Given the description of an element on the screen output the (x, y) to click on. 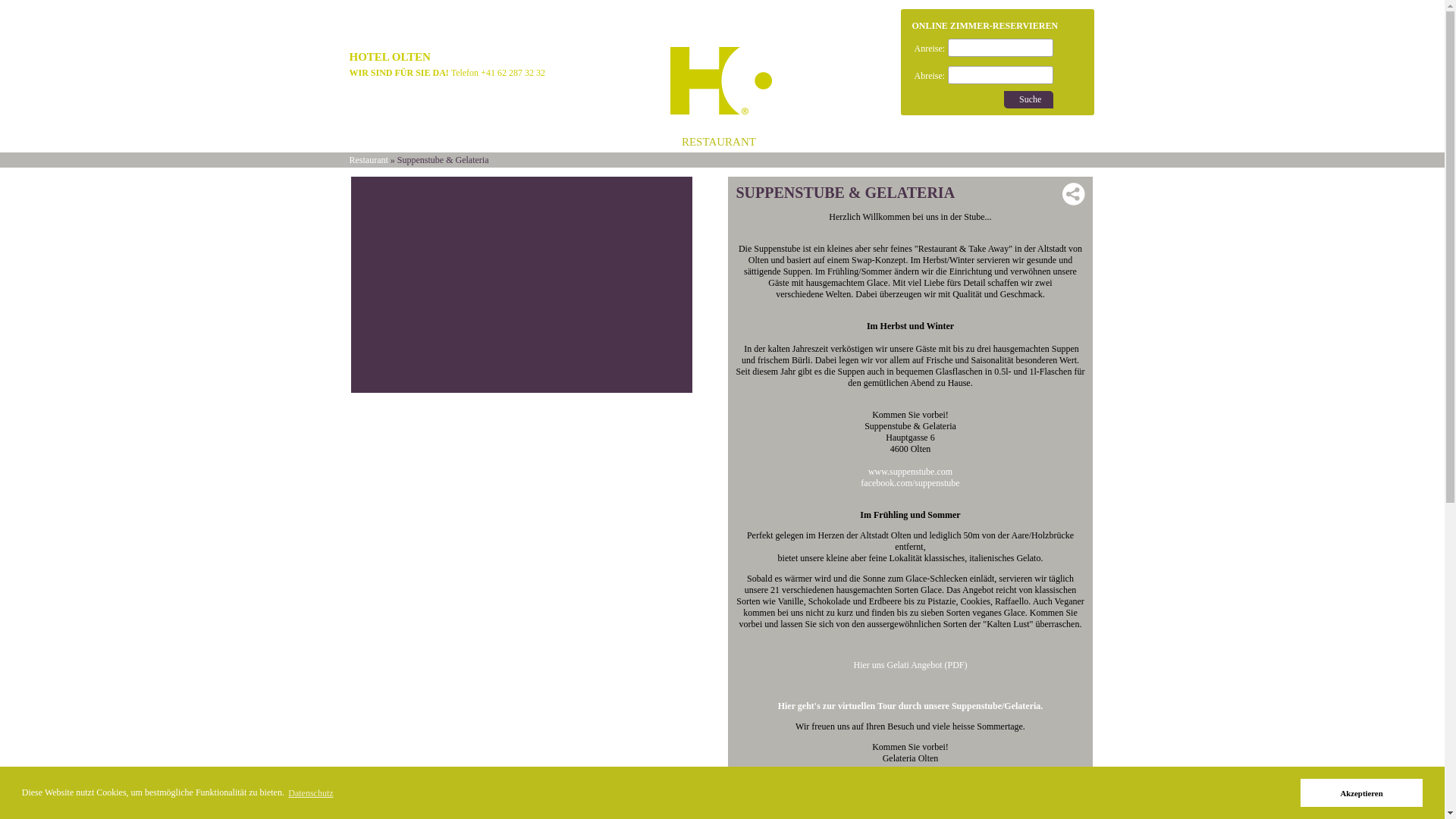
Suche Element type: text (1028, 99)
Akzeptieren Element type: text (1361, 792)
ANREISE Element type: text (802, 141)
Datenschutz Element type: text (310, 792)
KONTAKT & INFORMATION Element type: text (922, 141)
English Element type: text (414, 22)
WILLKOMMEN IM HOTEL OLTEN Element type: text (436, 141)
HOTEL Element type: text (565, 141)
Deutsch Element type: text (372, 22)
SEMINAR Element type: text (632, 141)
www.suppenstube.com Element type: text (910, 471)
Hier uns Gelati Angebot (PDF) Element type: text (910, 664)
Restaurant Element type: text (367, 159)
RESTAURANT Element type: text (718, 141)
facebook.com/suppenstube Element type: text (909, 488)
